Given the description of an element on the screen output the (x, y) to click on. 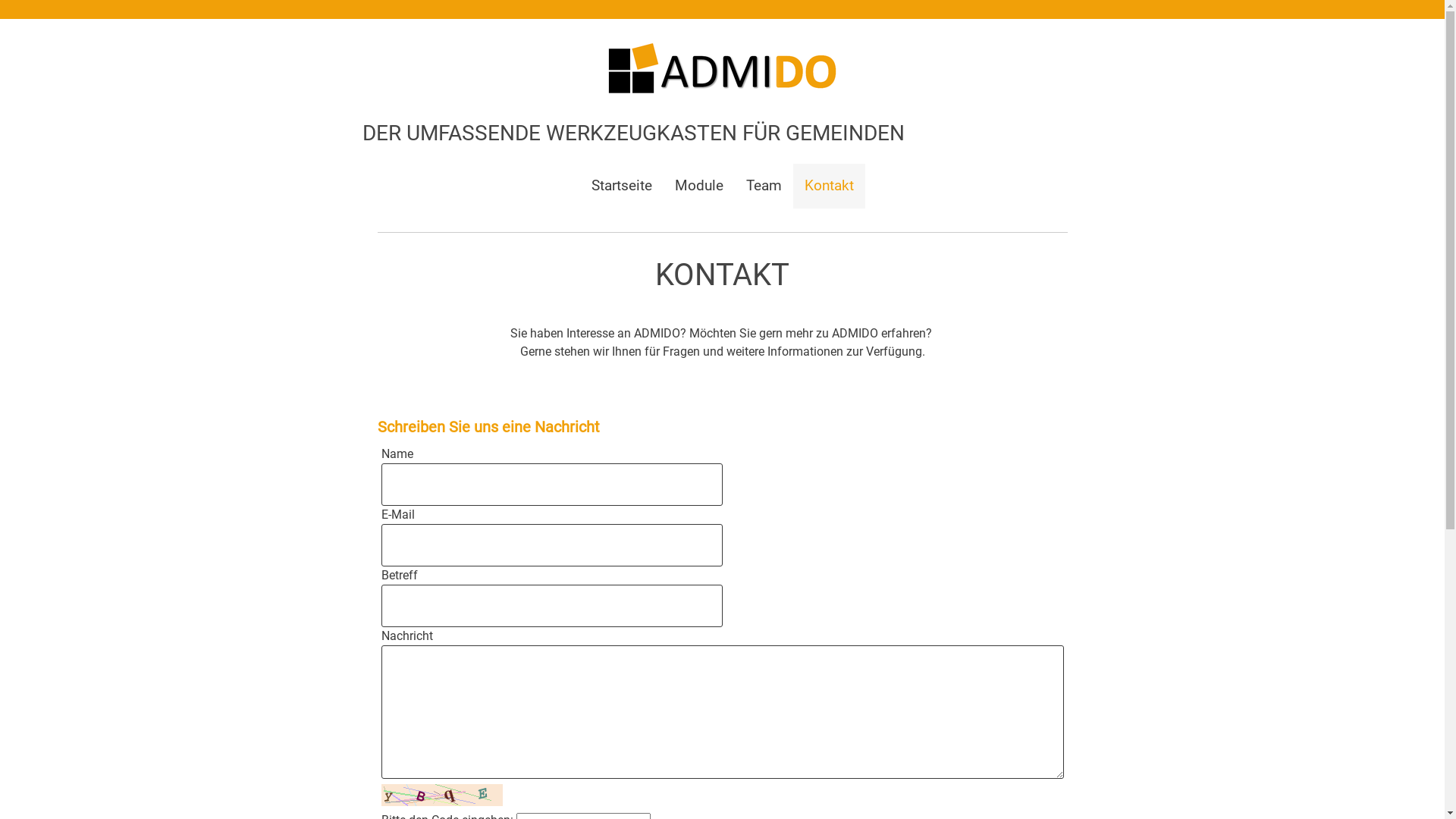
Team Element type: text (763, 185)
Startseite Element type: text (620, 185)
Kontakt Element type: text (829, 185)
Module Element type: text (698, 185)
